Given the description of an element on the screen output the (x, y) to click on. 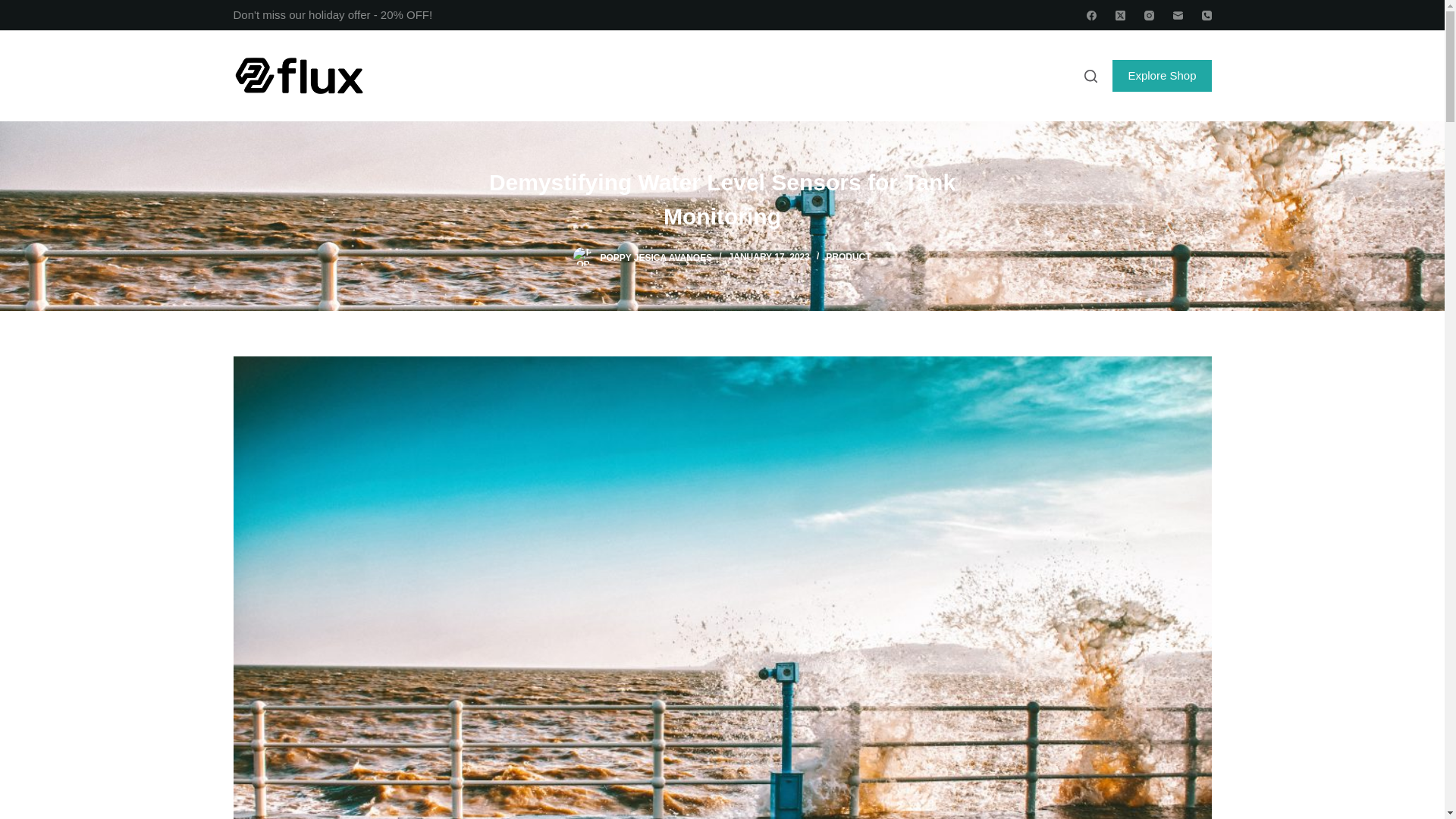
Skip to content (15, 7)
Explore Shop (1161, 75)
PRODUCT (847, 256)
Demystifying Water Level Sensors for Tank Monitoring (722, 199)
holiday offer (338, 14)
POPPY JESICA AVANOES (655, 256)
Posts by Poppy Jesica Avanoes (655, 256)
